Given the description of an element on the screen output the (x, y) to click on. 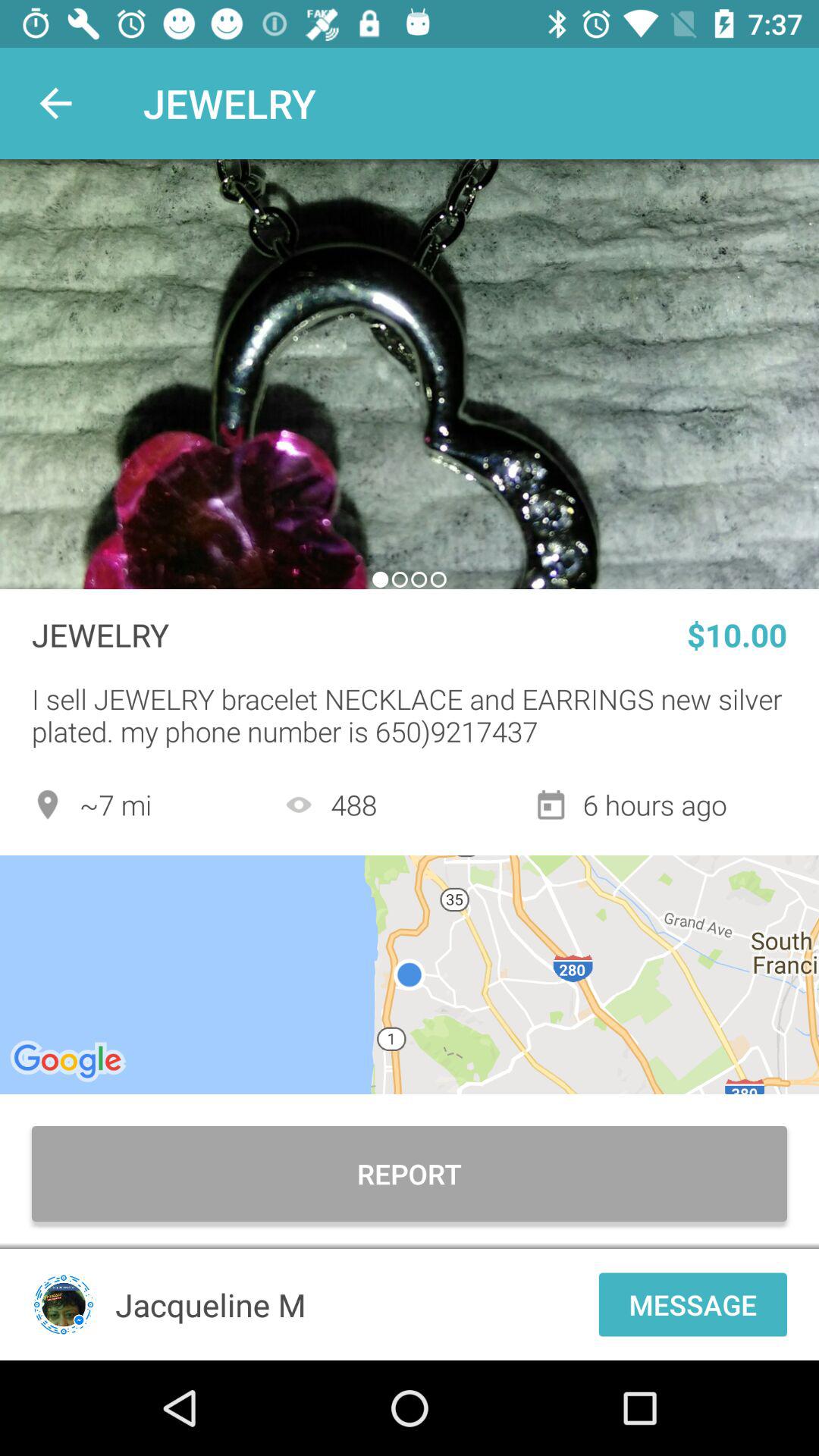
choose icon next to the jewelry item (55, 103)
